Given the description of an element on the screen output the (x, y) to click on. 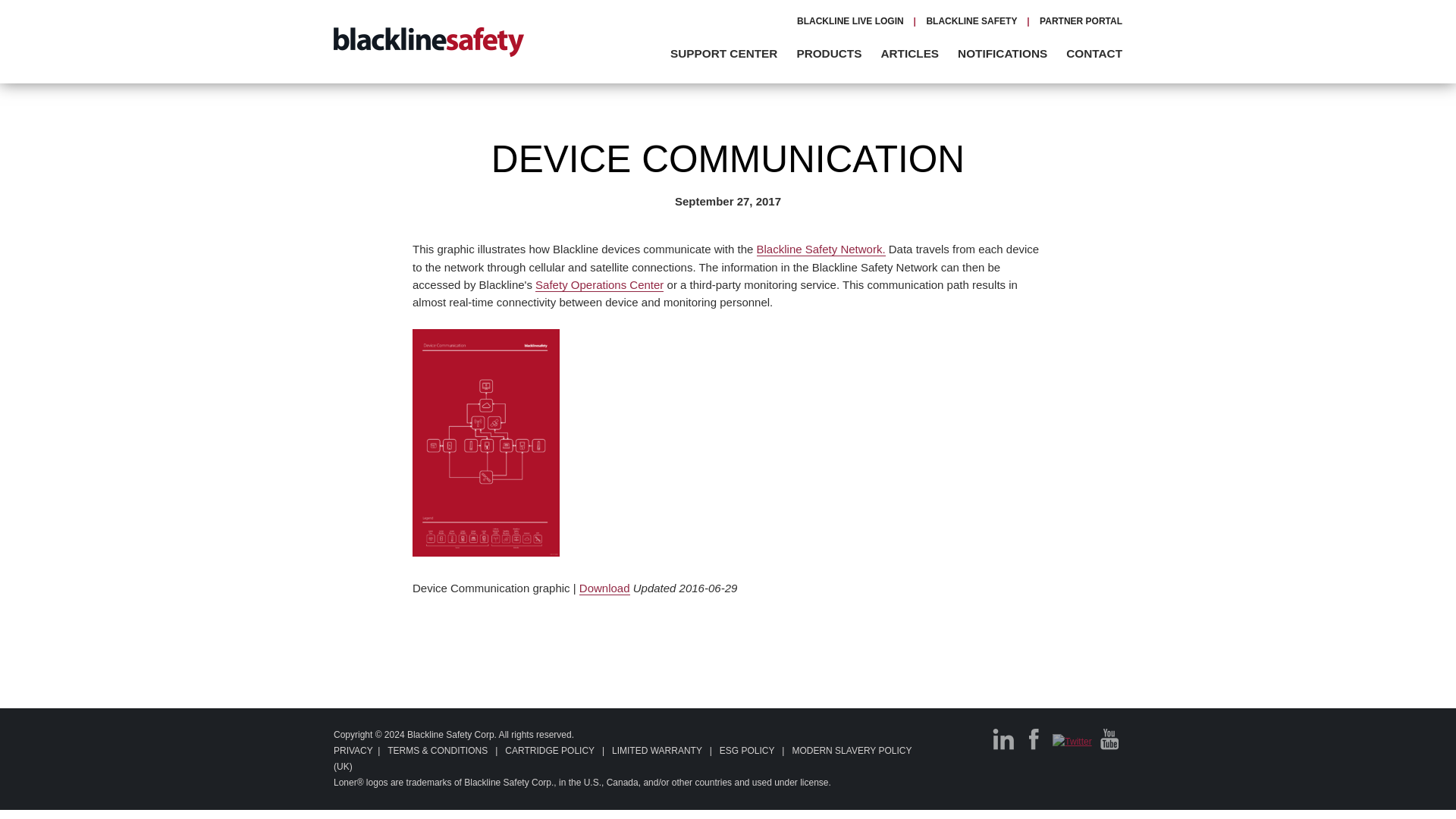
Facebook (1034, 738)
YouTube (1109, 738)
CONTACT (1093, 53)
ARTICLES (916, 53)
NOTIFICATIONS (1010, 53)
SUPPORT CENTER (730, 53)
PARTNER PORTAL (1080, 20)
Twitter (1071, 741)
LinkedIn (1003, 738)
PRODUCTS (836, 53)
BLACKLINE LIVE LOGIN (850, 20)
BLACKLINE SAFETY (971, 20)
